Given the description of an element on the screen output the (x, y) to click on. 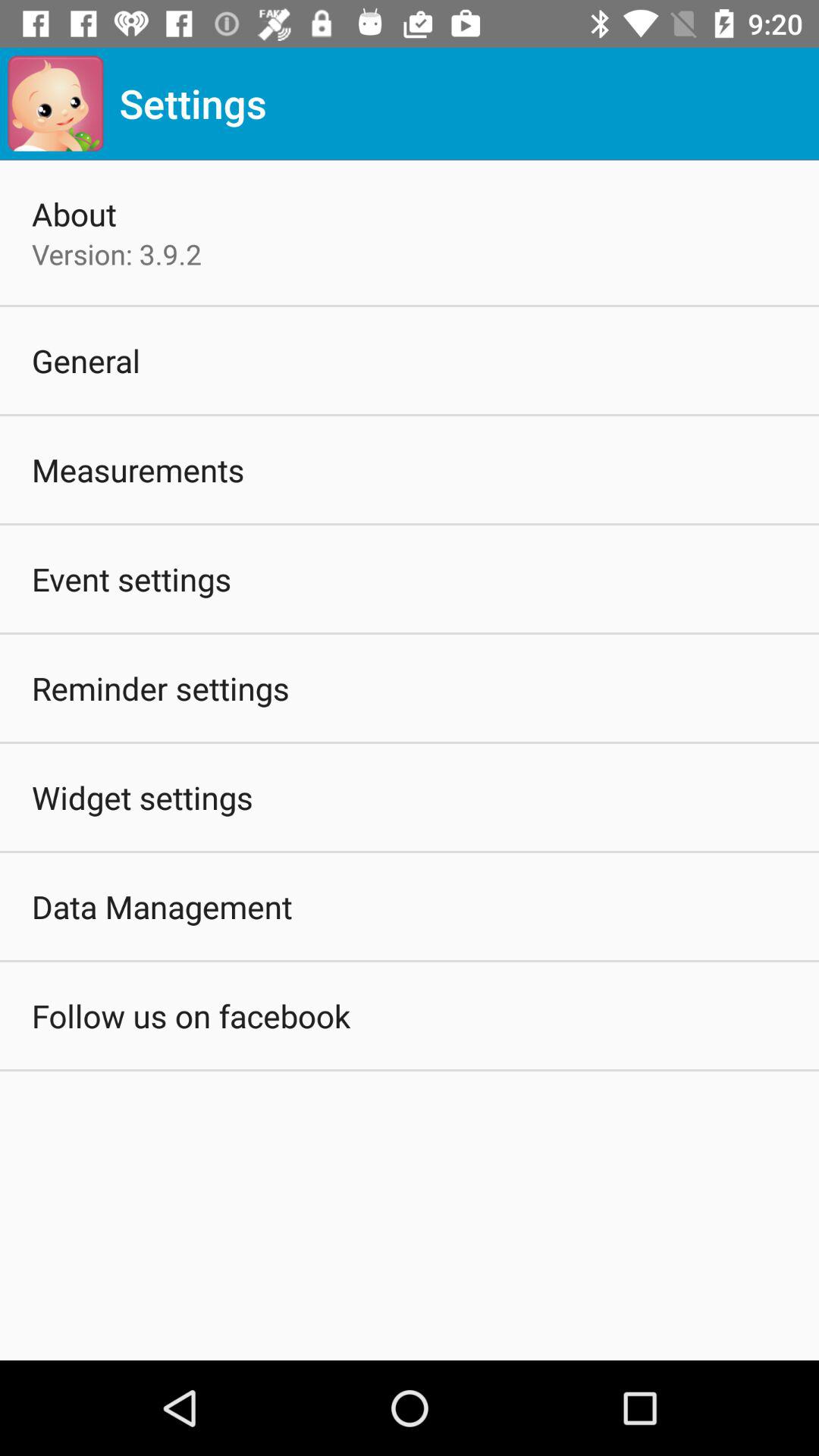
jump until measurements (137, 469)
